Given the description of an element on the screen output the (x, y) to click on. 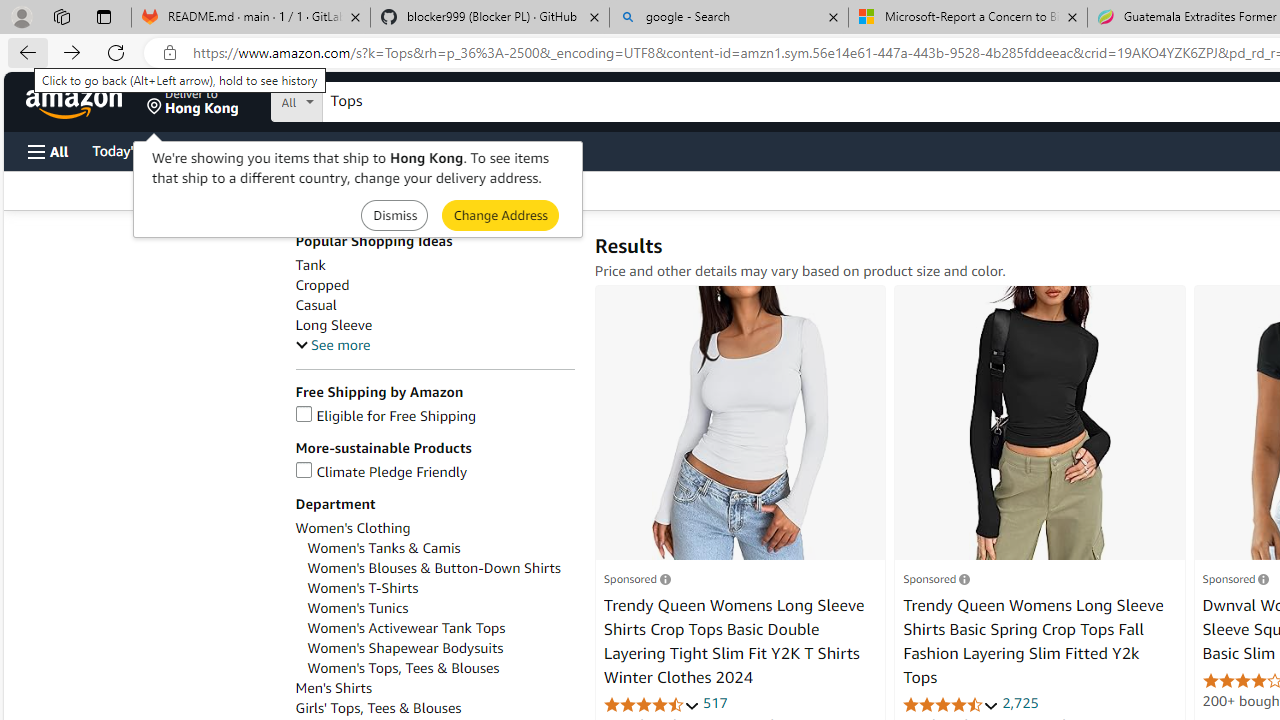
Women's T-Shirts (362, 588)
Women's Activewear Tank Tops (440, 628)
Tank (310, 265)
Eligible for Free Shipping (385, 416)
Long Sleeve (333, 325)
4.3 out of 5 stars (651, 704)
Women's Clothing (352, 528)
Search in (371, 99)
Women's Tanks & Camis (383, 548)
Tank (434, 265)
Eligible for Free Shipping (434, 416)
